Given the description of an element on the screen output the (x, y) to click on. 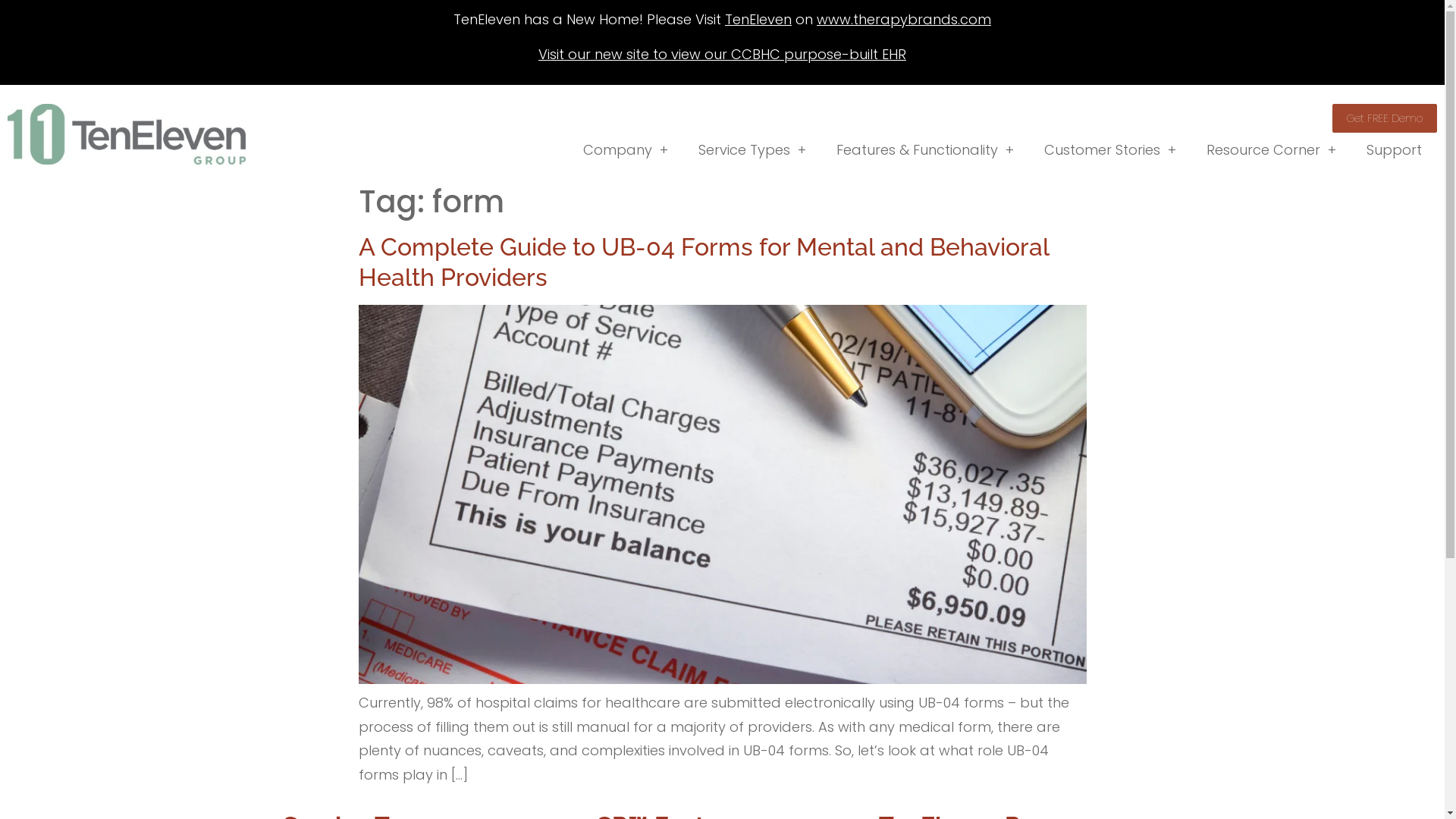
Features & Functionality Element type: text (925, 149)
Company Element type: text (625, 149)
Customer Stories Element type: text (1110, 149)
Service Types Element type: text (752, 149)
Resource Corner Element type: text (1271, 149)
TenEleven Element type: text (757, 18)
Visit our new site to view our CCBHC purpose-built EHR Element type: text (722, 53)
Support Element type: text (1394, 149)
Get FREE Demo Element type: text (1384, 117)
www.therapybrands.com Element type: text (903, 18)
